Given the description of an element on the screen output the (x, y) to click on. 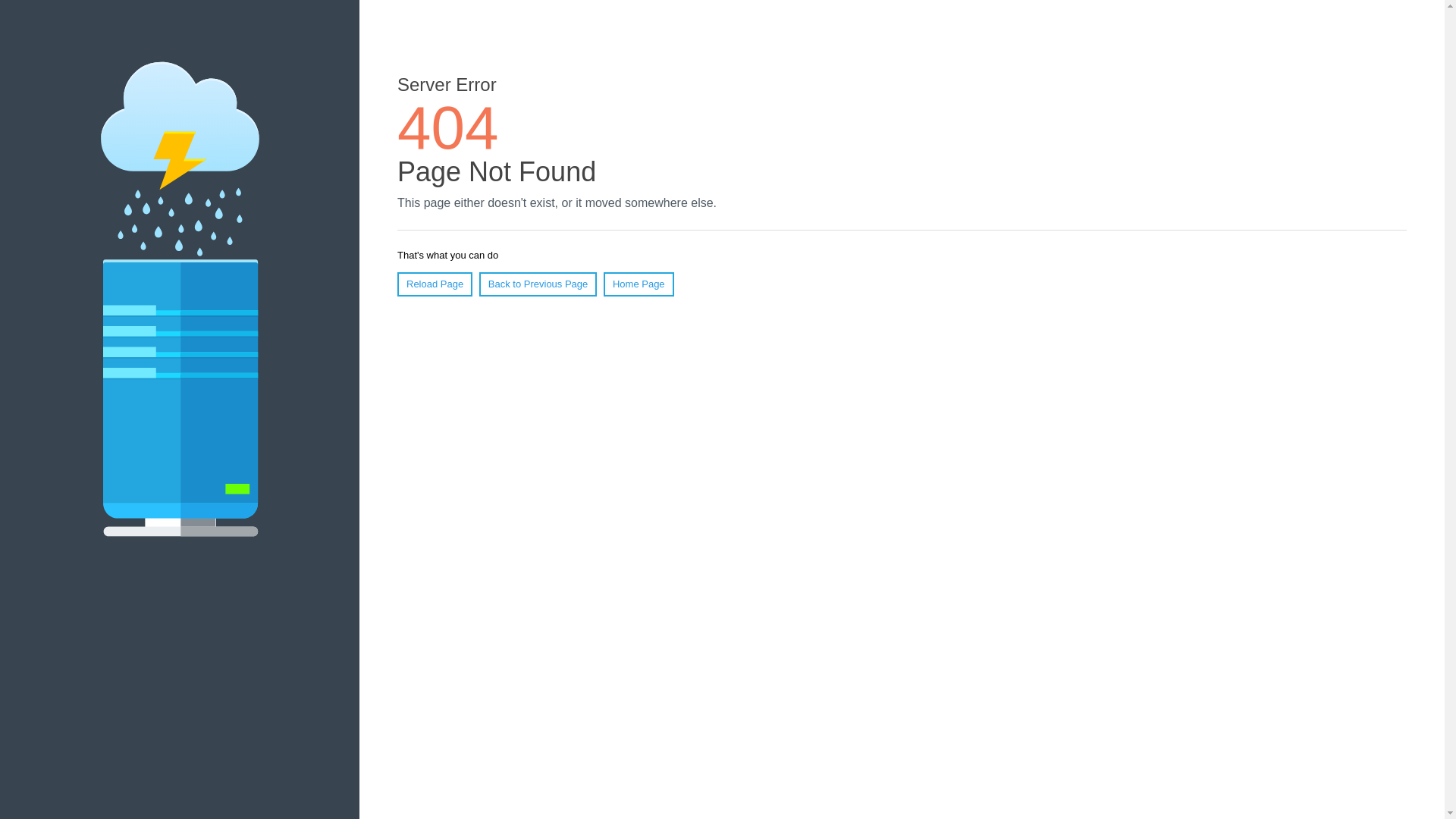
Back to Previous Page Element type: text (538, 284)
Reload Page Element type: text (434, 284)
Home Page Element type: text (638, 284)
